Given the description of an element on the screen output the (x, y) to click on. 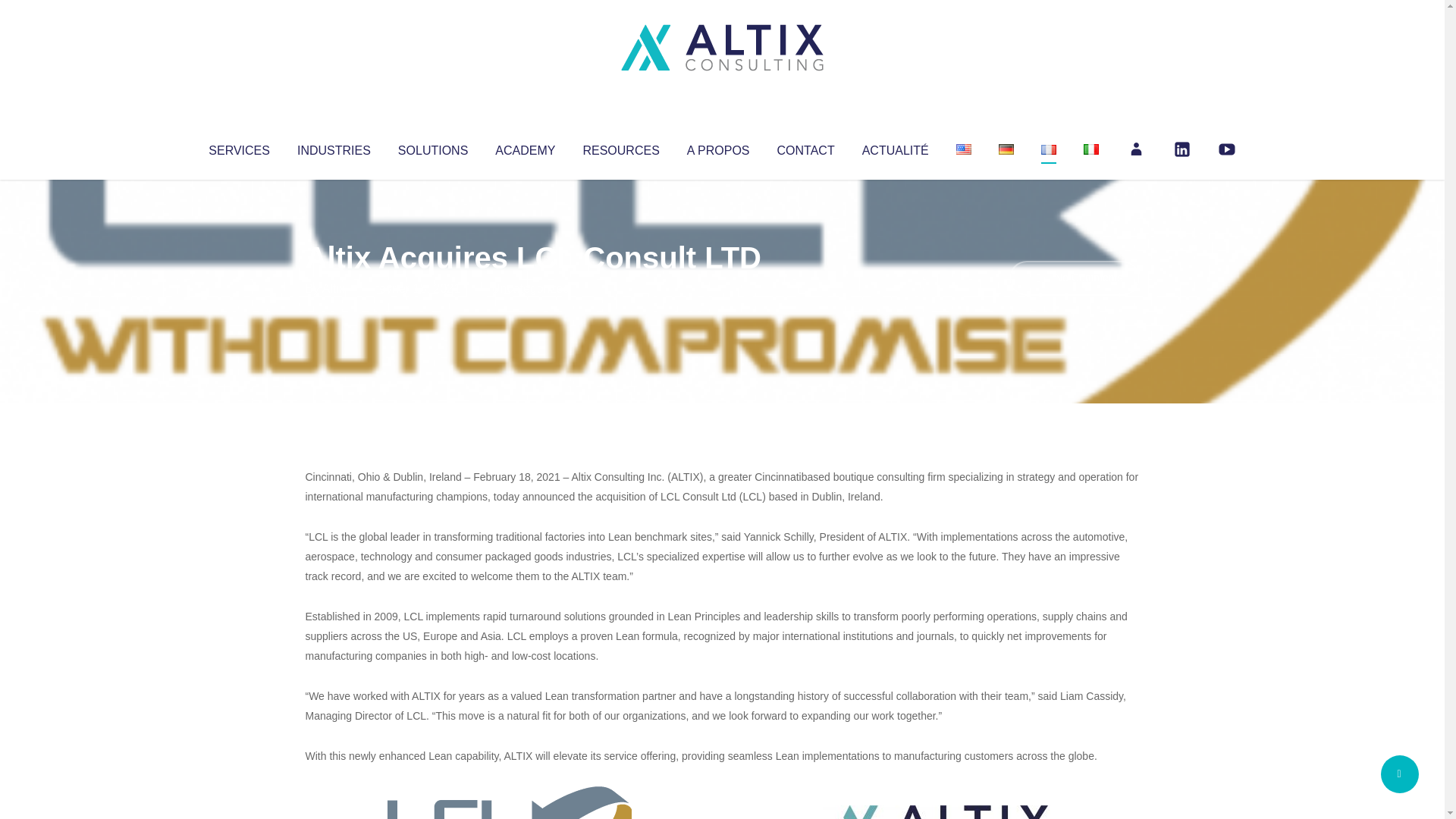
INDUSTRIES (334, 146)
Altix (333, 287)
A PROPOS (718, 146)
Articles par Altix (333, 287)
No Comments (1073, 278)
ACADEMY (524, 146)
RESOURCES (620, 146)
SERVICES (238, 146)
SOLUTIONS (432, 146)
Uncategorized (530, 287)
